Given the description of an element on the screen output the (x, y) to click on. 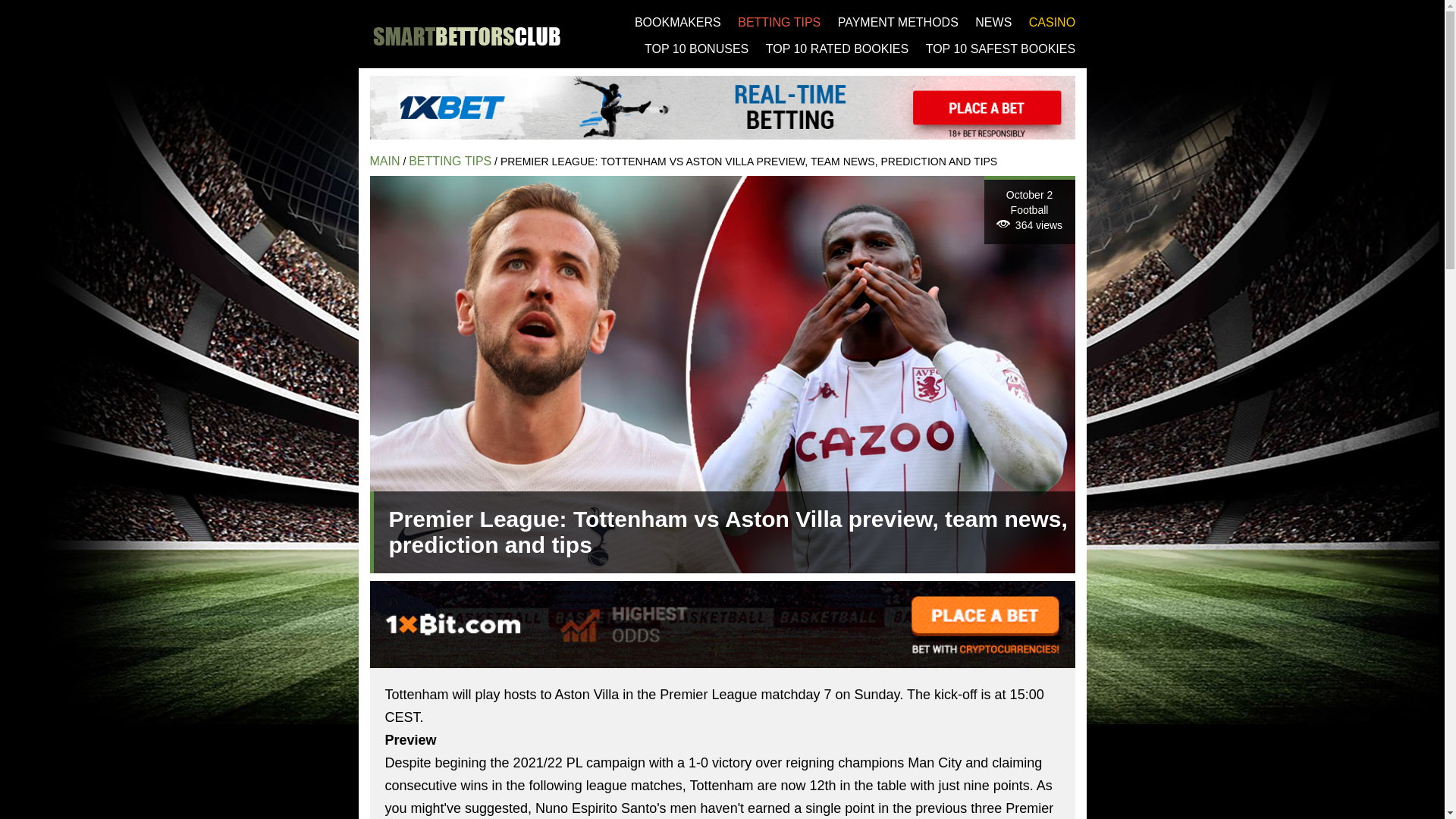
TOP 10 RATED BOOKIES (836, 48)
PAYMENT METHODS (898, 21)
NEWS (993, 21)
Betting tips (450, 160)
BETTING TIPS (779, 21)
CASINO (1052, 21)
BETTING TIPS (450, 160)
BOOKMAKERS (677, 21)
TOP 10 SAFEST BOOKIES (1000, 48)
Welcome to the MODX Content Management System (384, 160)
TOP 10 BONUSES (696, 48)
MAIN (384, 160)
